Given the description of an element on the screen output the (x, y) to click on. 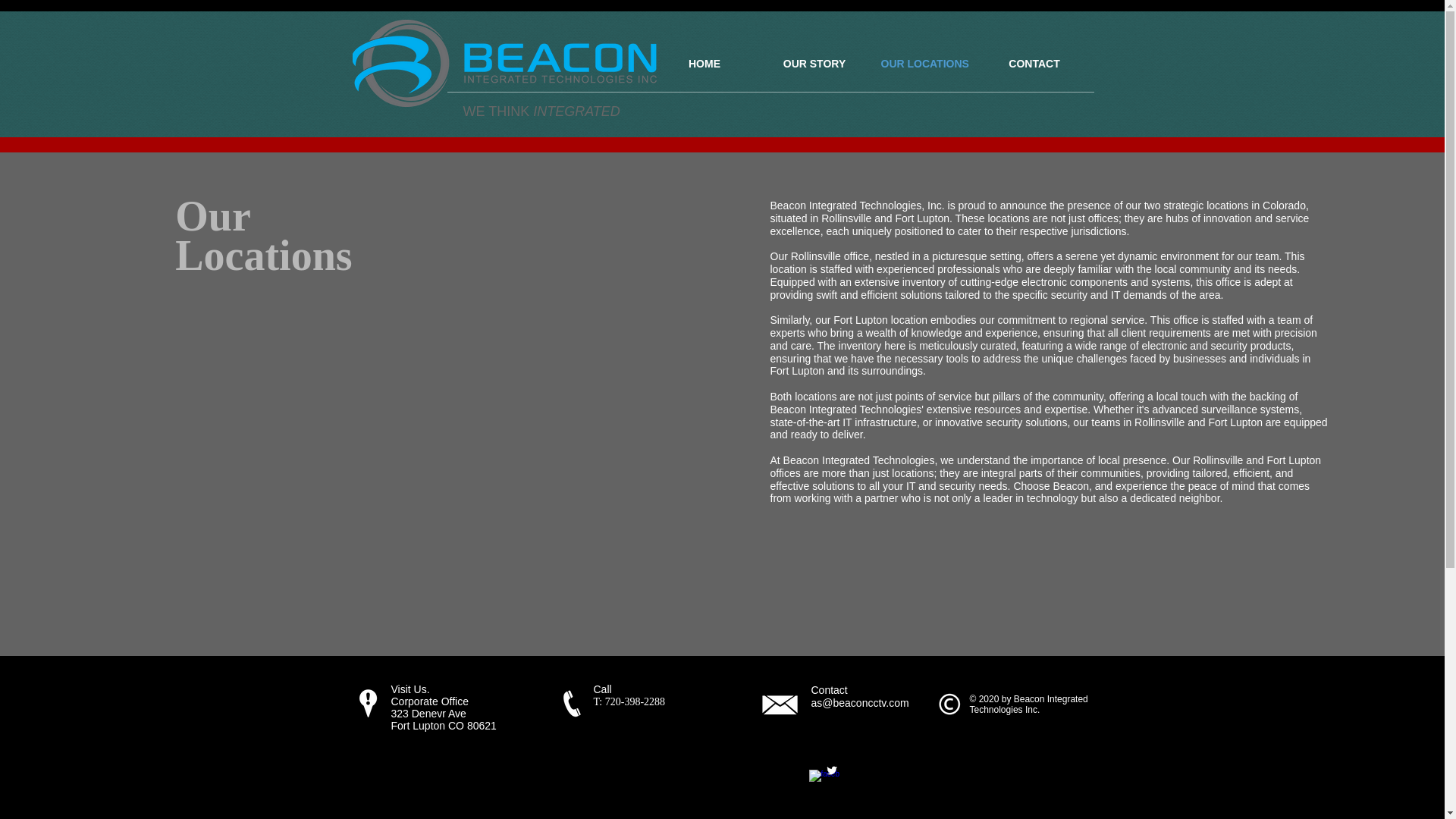
CONTACT (1034, 63)
WE THINK INTEGRATED (541, 111)
OUR STORY (814, 63)
HOME (703, 63)
OUR LOCATIONS (923, 63)
